Given the description of an element on the screen output the (x, y) to click on. 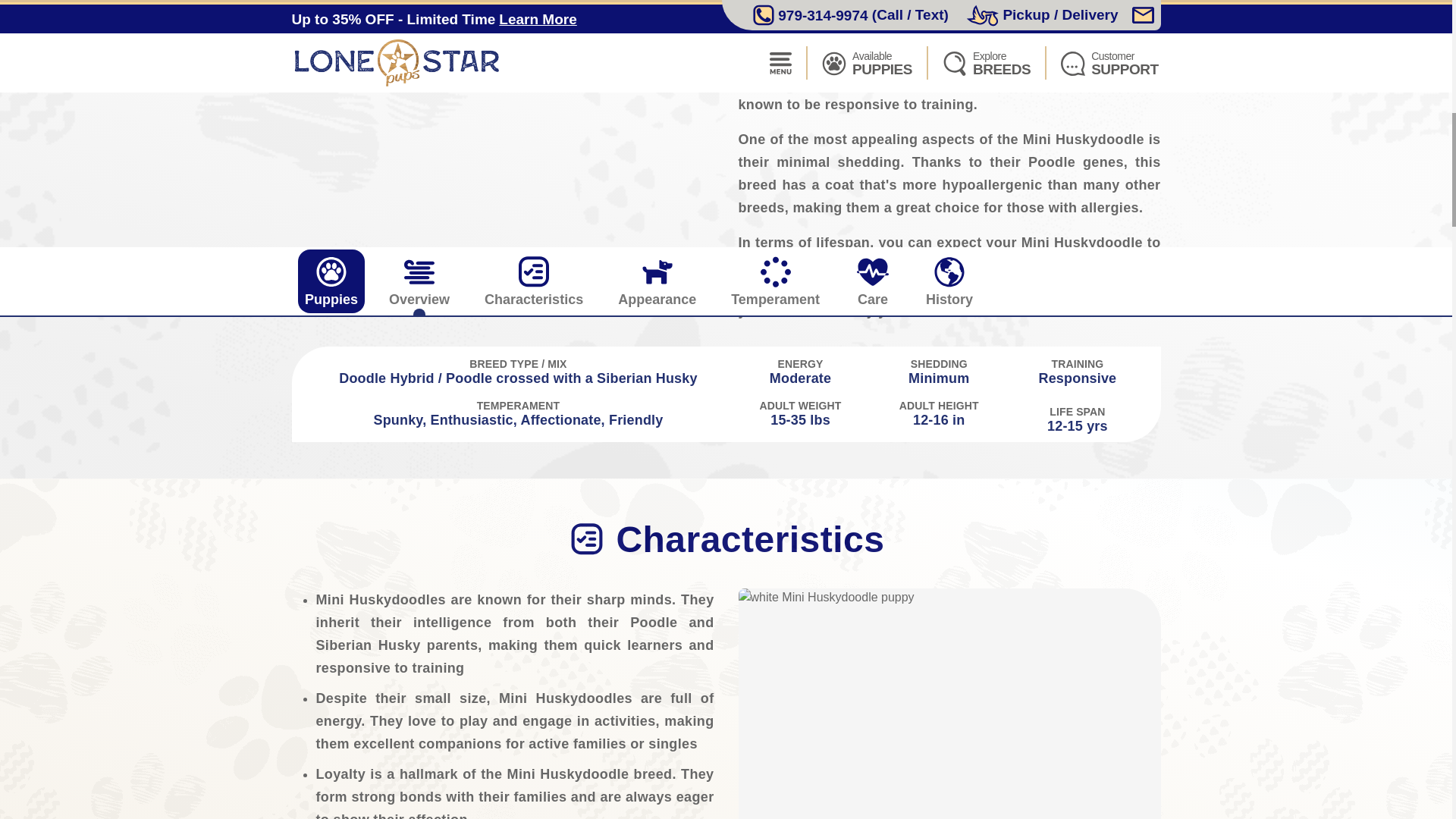
white Mini Huskydoodle puppy outside (949, 703)
